Given the description of an element on the screen output the (x, y) to click on. 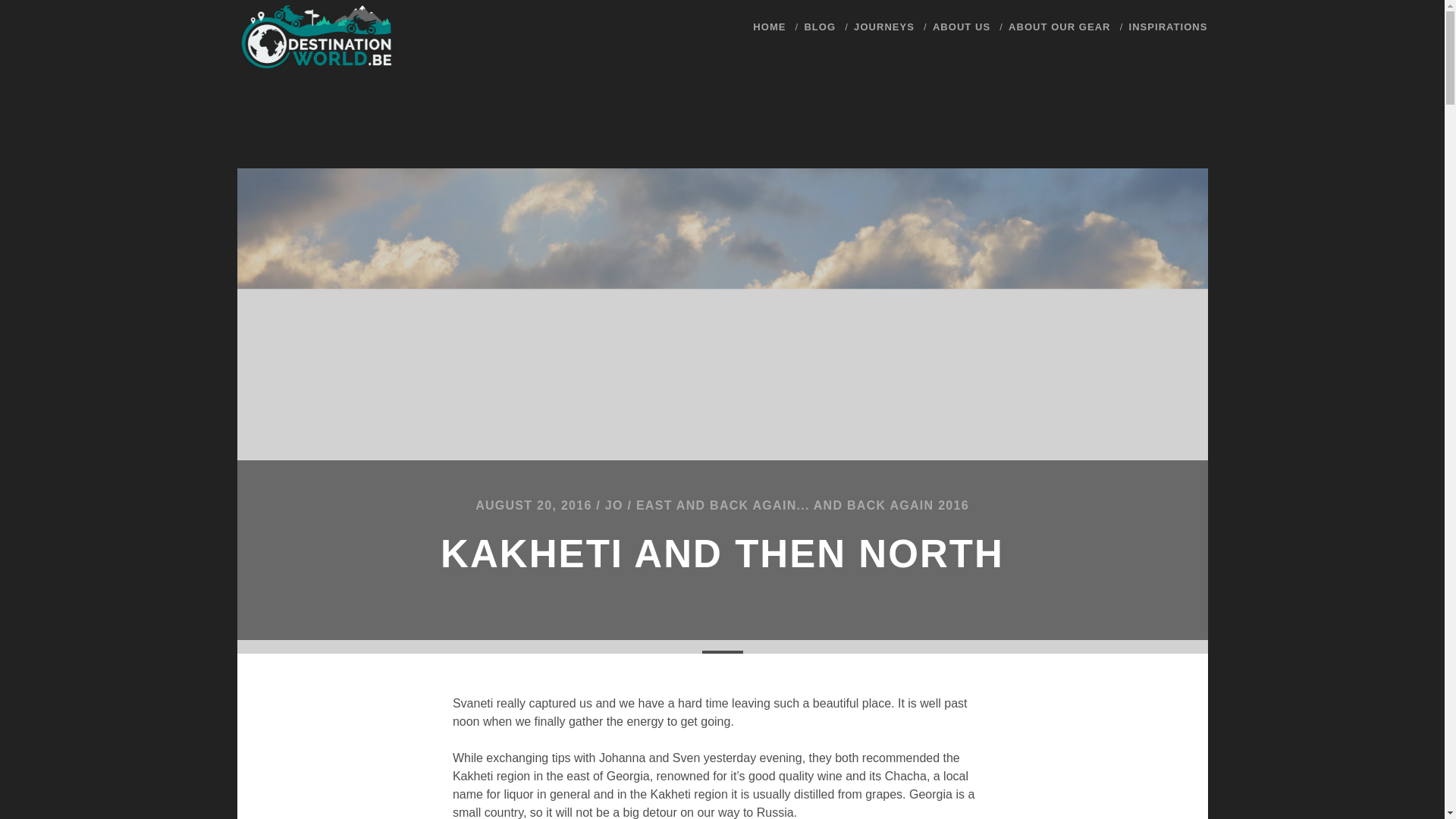
HOME (769, 27)
Posts by Jo (614, 504)
ABOUT OUR GEAR (1059, 27)
JOURNEYS (883, 27)
INSPIRATIONS (1168, 27)
ABOUT US (961, 27)
JO (614, 504)
BLOG (819, 27)
EAST AND BACK AGAIN... AND BACK AGAIN 2016 (802, 504)
